Given the description of an element on the screen output the (x, y) to click on. 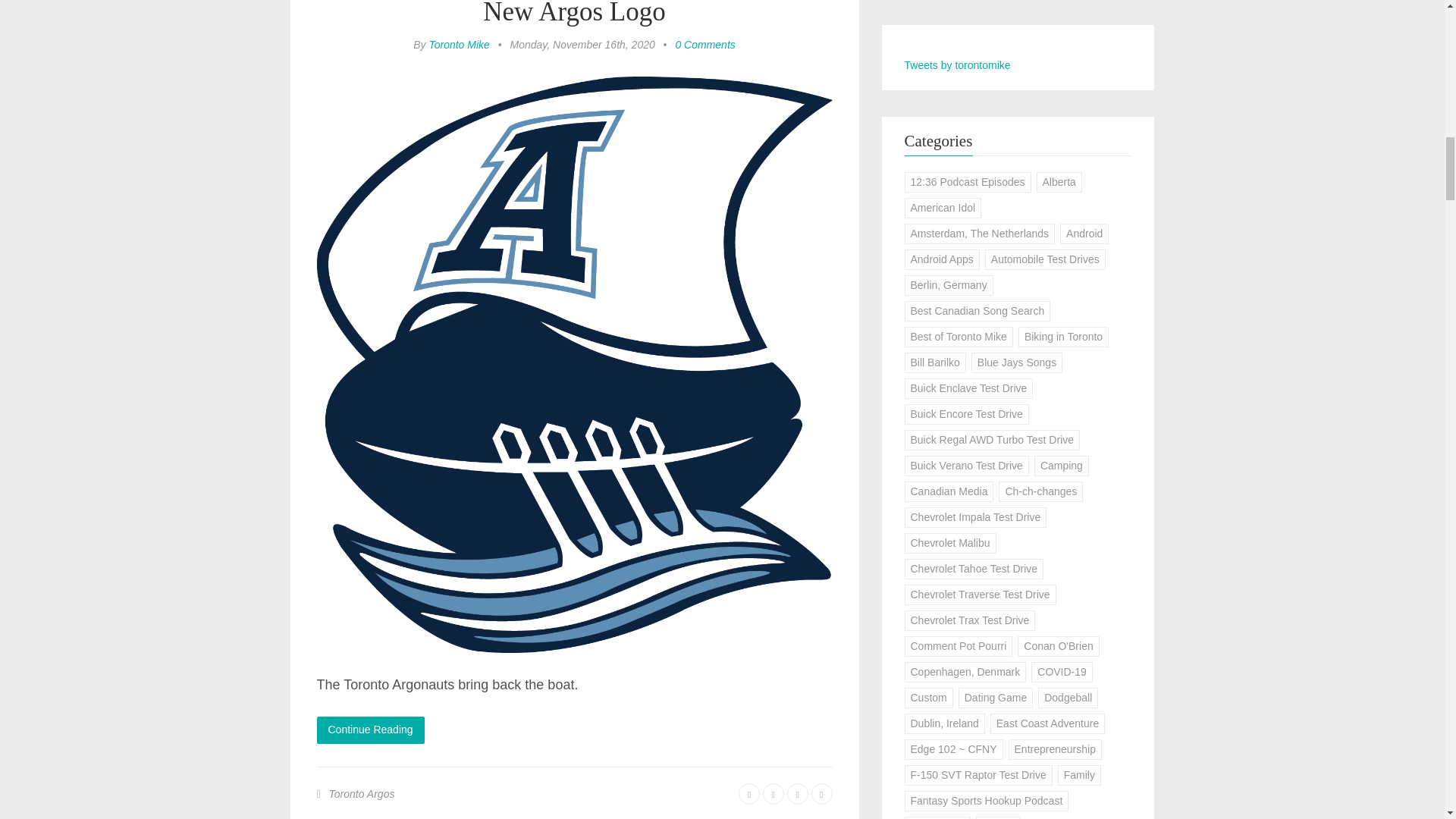
0 Comments (705, 44)
Toronto Mike (458, 44)
New Argos Logo (574, 13)
Continue Reading (371, 729)
